Given the description of an element on the screen output the (x, y) to click on. 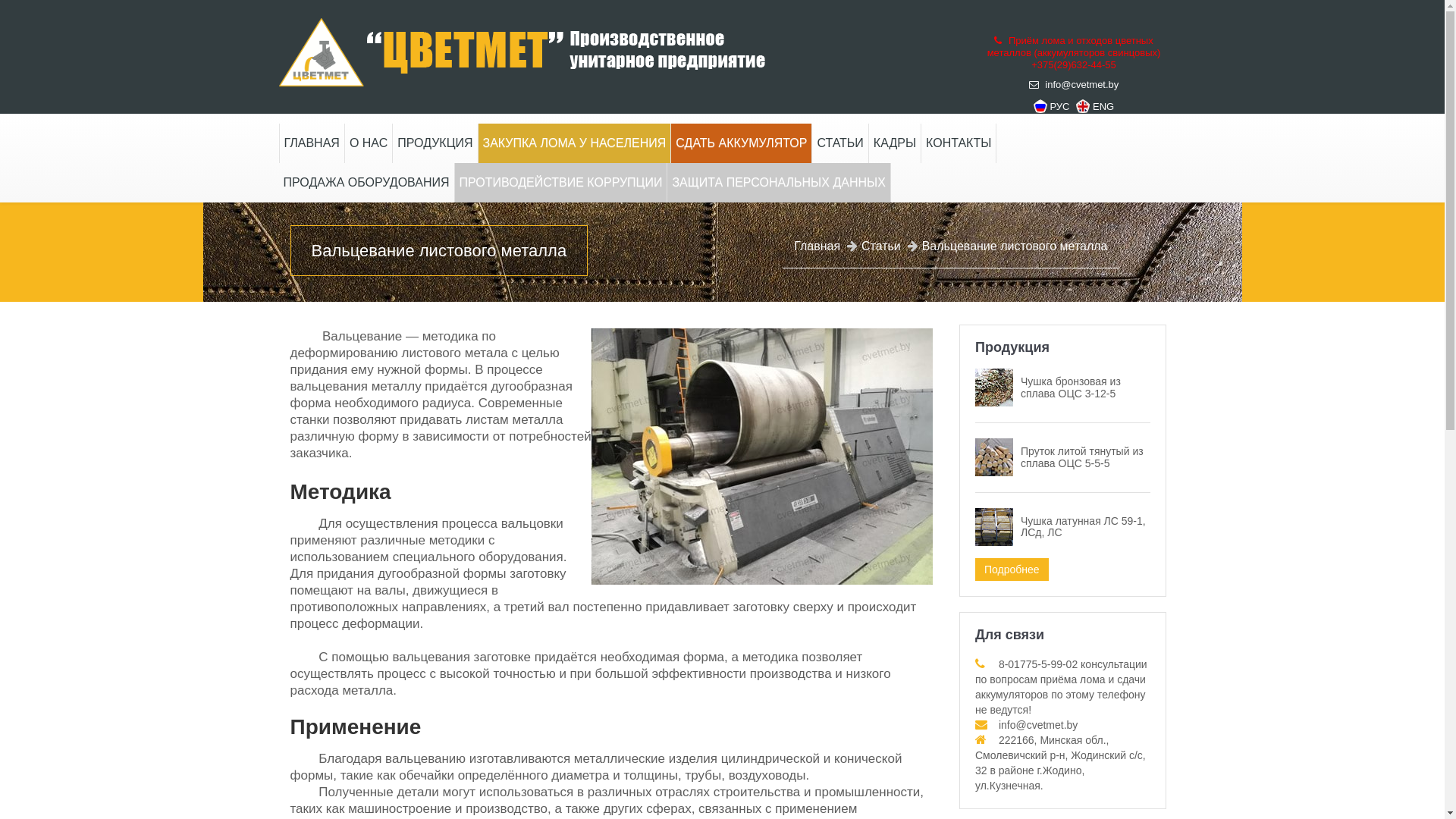
ENG Element type: text (1094, 107)
info@cvetmet.by Element type: text (1073, 84)
